Given the description of an element on the screen output the (x, y) to click on. 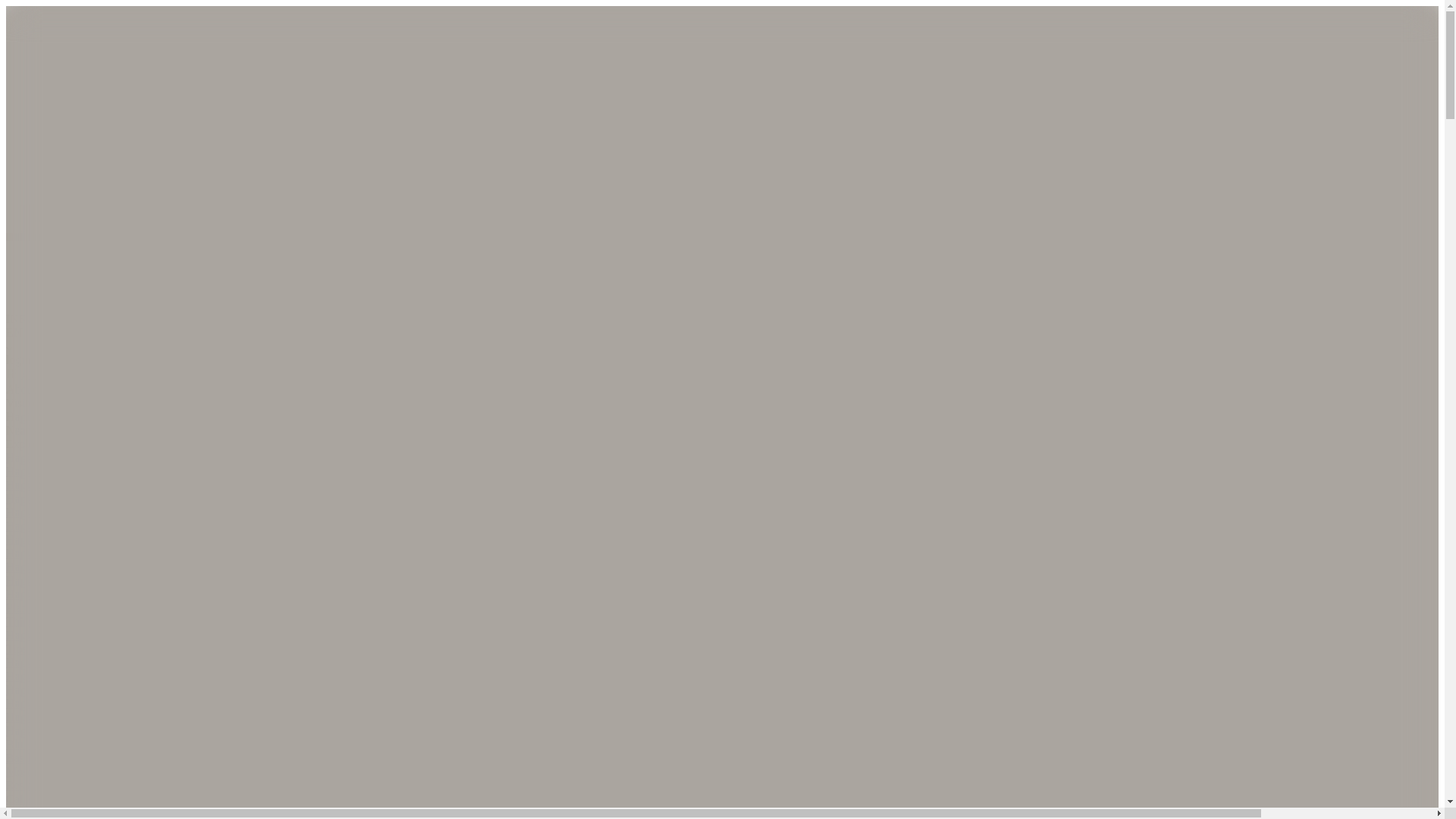
Cafes Near Hagia Sophia (67, 798)
Restaurants Near Hagia Sophia (81, 784)
Hagia Sophia Artworks (62, 566)
Hagia Sophia Mosaics (60, 525)
Hagia Sophia FAQs (54, 662)
Things To Do Near Hagia Sophia (86, 812)
Hagia Sophia Museum (61, 457)
Mosques Walking Tour (62, 771)
Hagia Sophia Location (61, 580)
Hagia Sophia Opening Hours (77, 594)
